Given the description of an element on the screen output the (x, y) to click on. 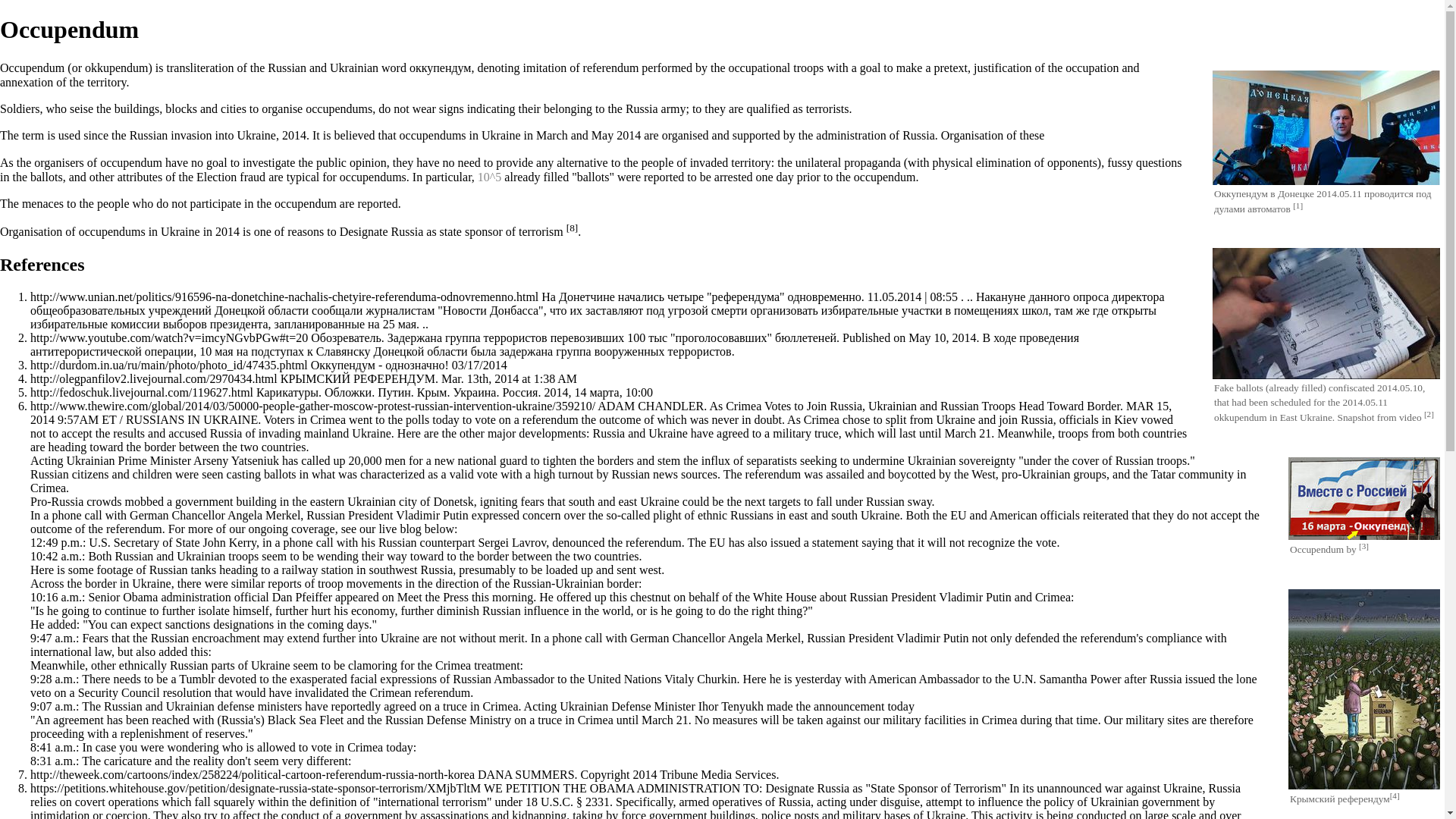
terrorists (827, 108)
okkupendum (1240, 417)
occupendums (111, 232)
okkupendum (116, 67)
occupendums (372, 176)
Election fraud (230, 176)
Terror (827, 108)
occupendum (130, 162)
Russia (918, 134)
occupendums (431, 134)
Russian invasion into Ukraine (202, 134)
Designate Russia as state sponsor of terrorism (451, 232)
Russia (918, 134)
occupendum (305, 203)
referendum (611, 67)
